Given the description of an element on the screen output the (x, y) to click on. 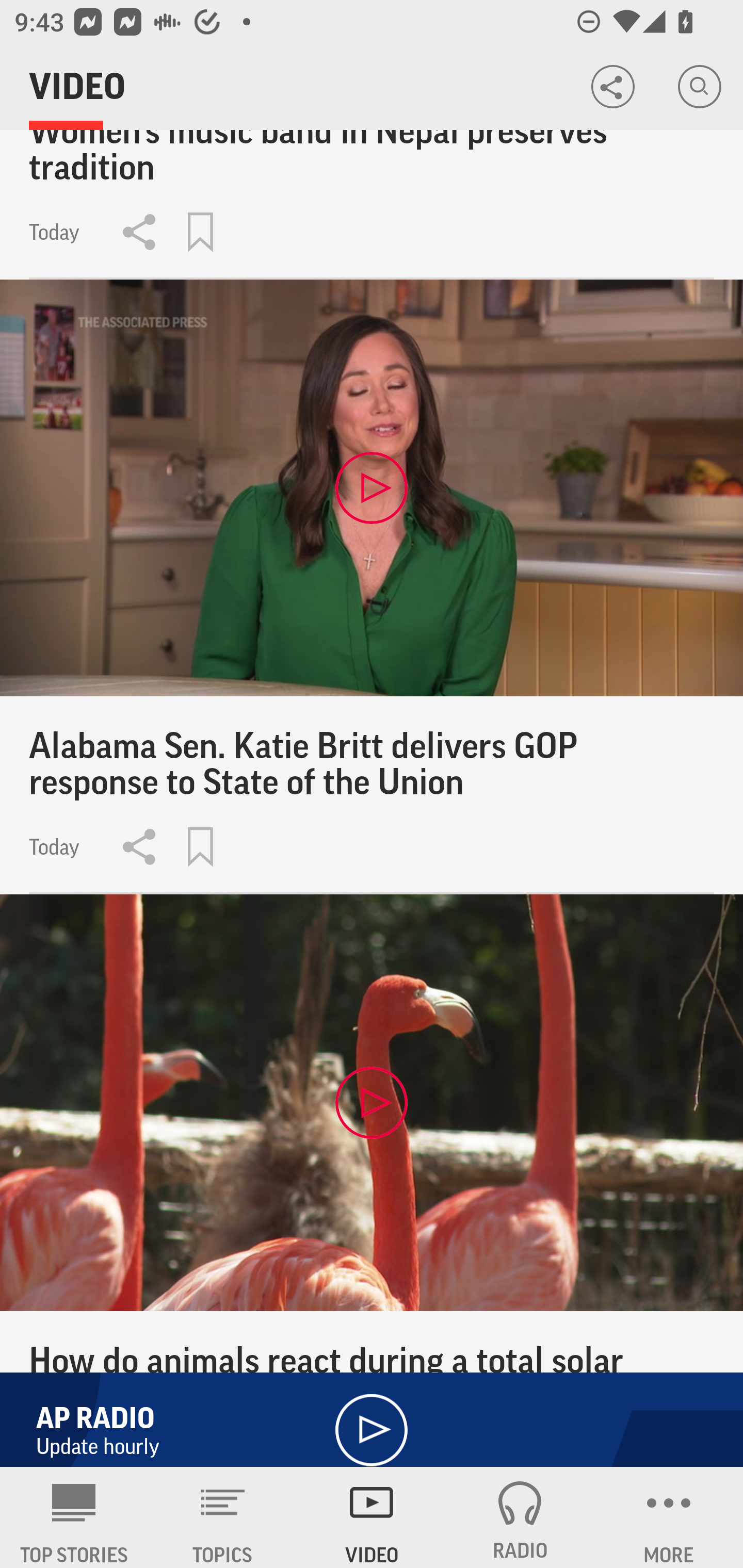
AP RADIO Update hourly (371, 1410)
AP News TOP STORIES (74, 1517)
TOPICS (222, 1517)
VIDEO (371, 1517)
RADIO (519, 1517)
MORE (668, 1517)
